Given the description of an element on the screen output the (x, y) to click on. 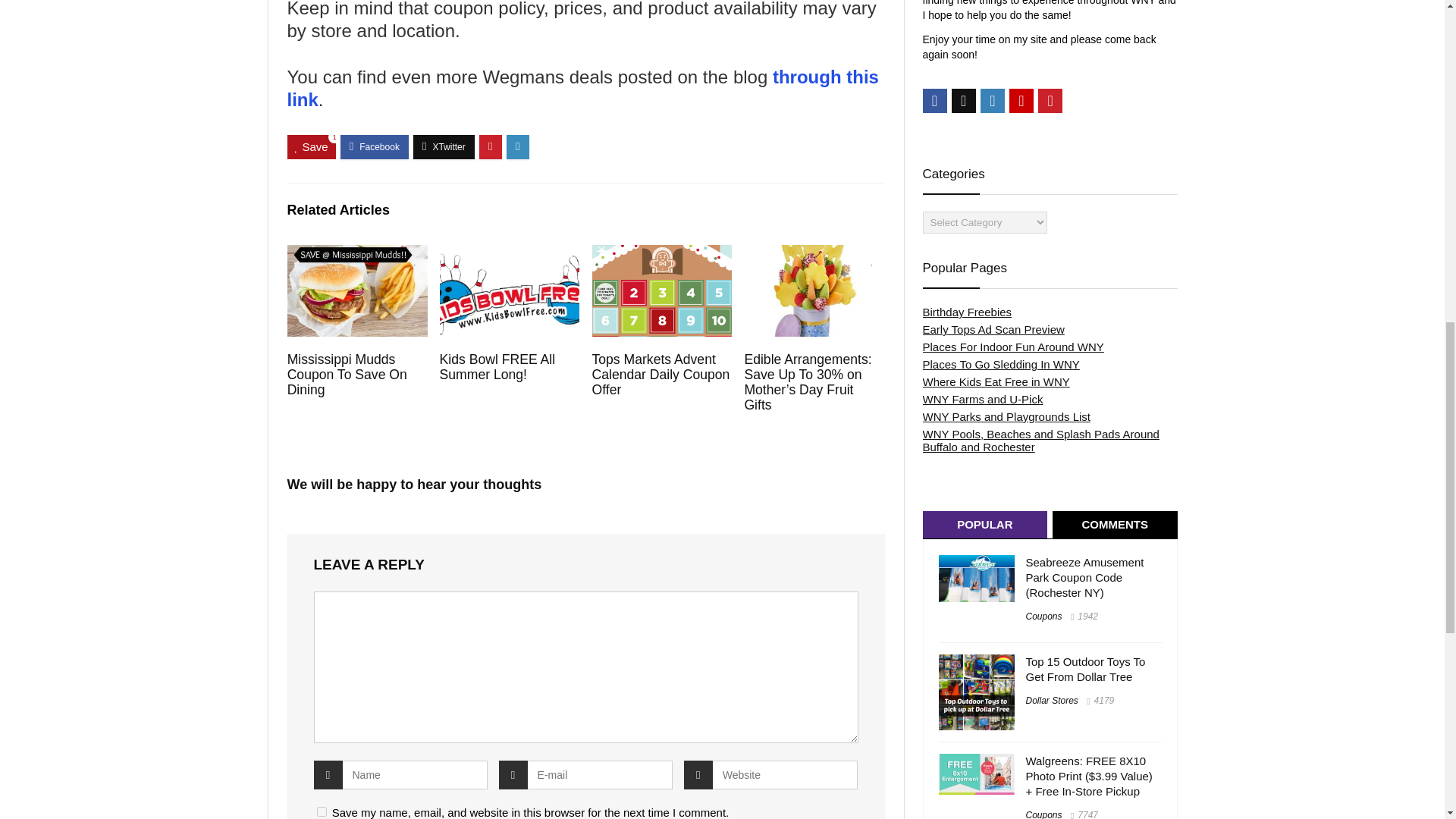
twitter (963, 100)
Youtube (1021, 100)
Facebook (933, 100)
Instagramm (991, 100)
Pinterest (1050, 100)
yes (321, 811)
